Given the description of an element on the screen output the (x, y) to click on. 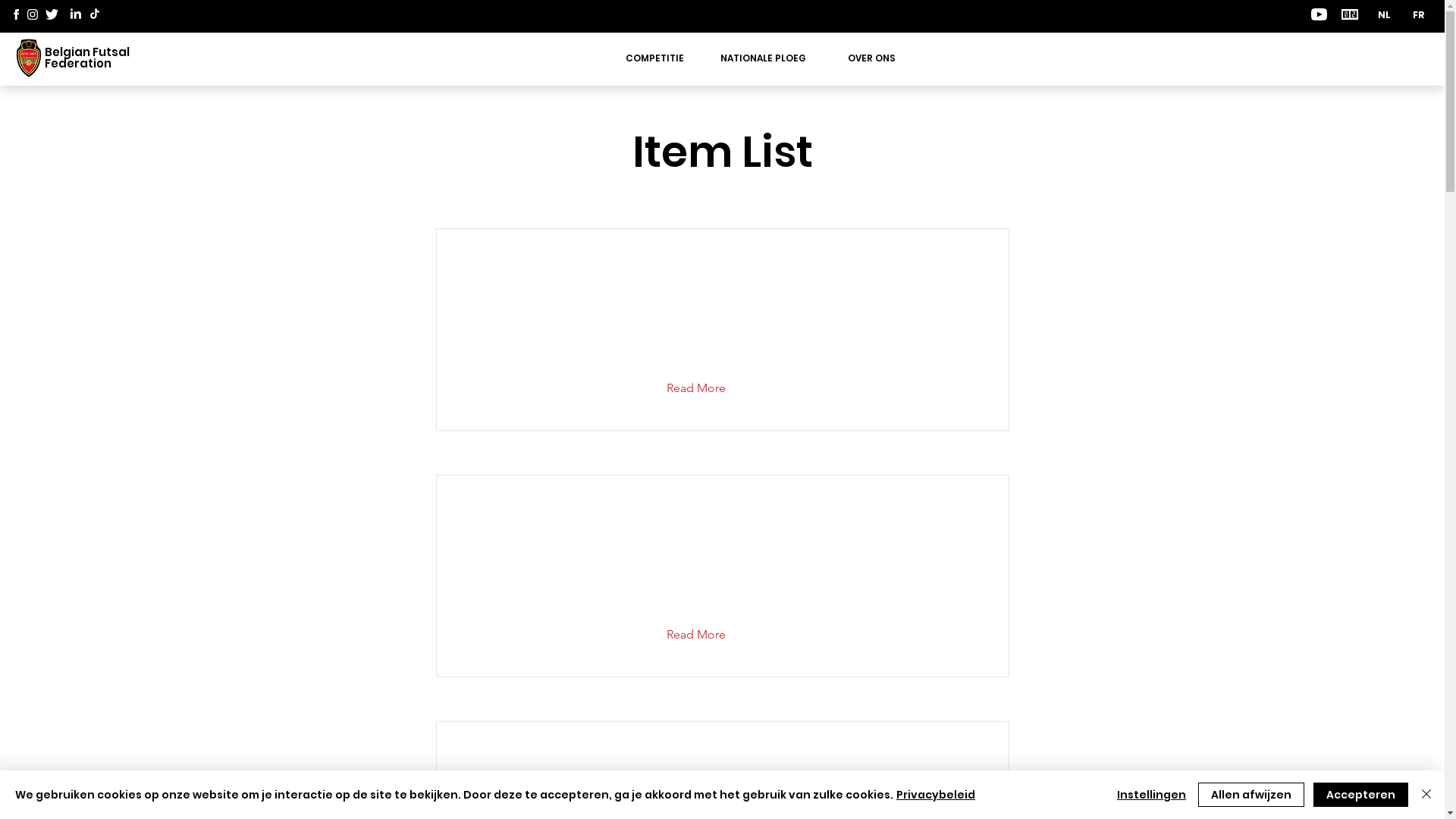
Read More Element type: text (706, 387)
Accepteren Element type: text (1360, 794)
FR Element type: text (1418, 14)
Privacybeleid Element type: text (935, 794)
Allen afwijzen Element type: text (1251, 794)
Belgian Futsal Federation Element type: text (86, 57)
Logo BZVB website.png Element type: hover (28, 57)
OVER ONS Element type: text (871, 58)
Read More Element type: text (706, 634)
NL Element type: text (1384, 14)
